Given the description of an element on the screen output the (x, y) to click on. 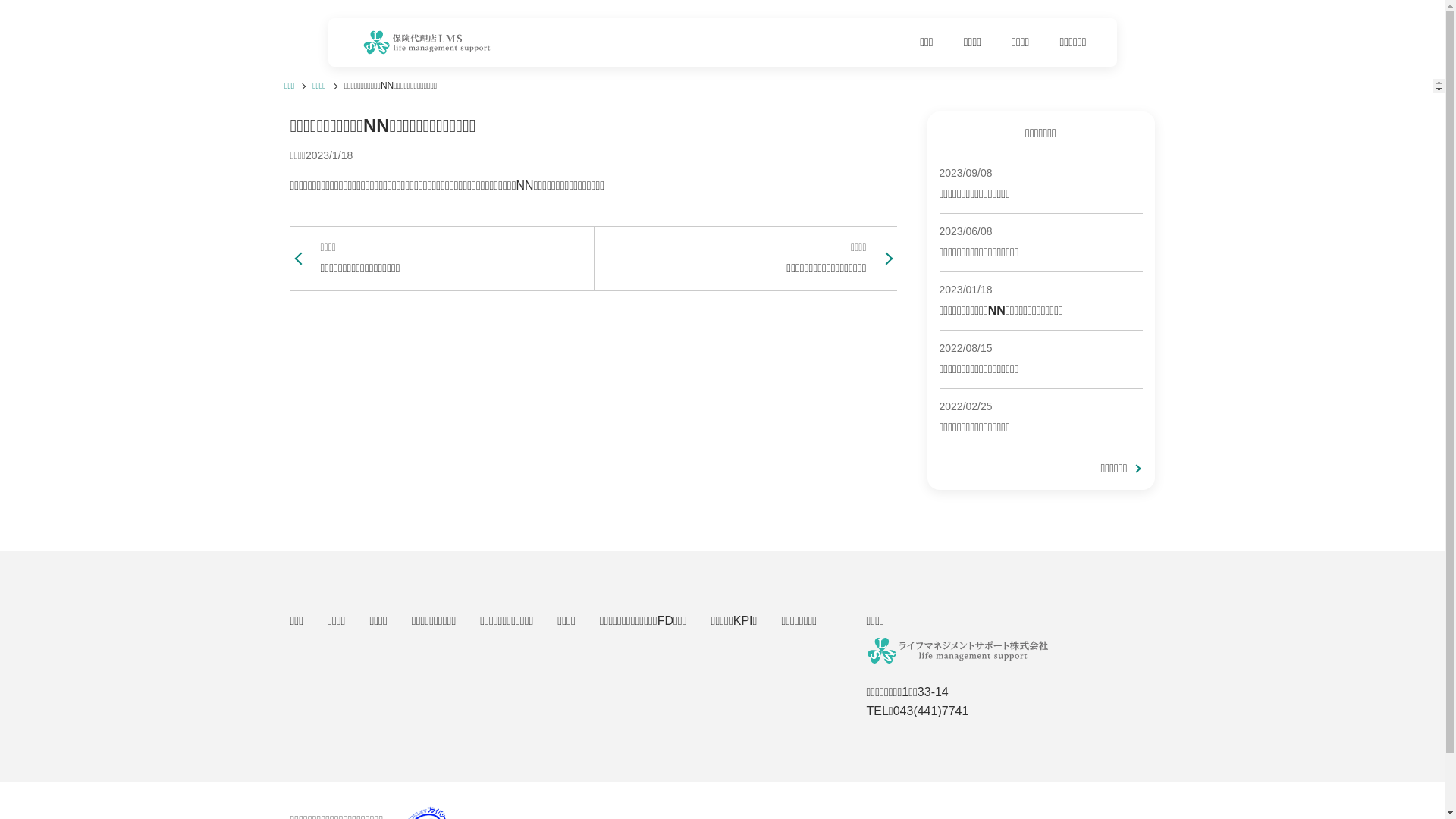
043(441)7741 Element type: text (931, 710)
